Given the description of an element on the screen output the (x, y) to click on. 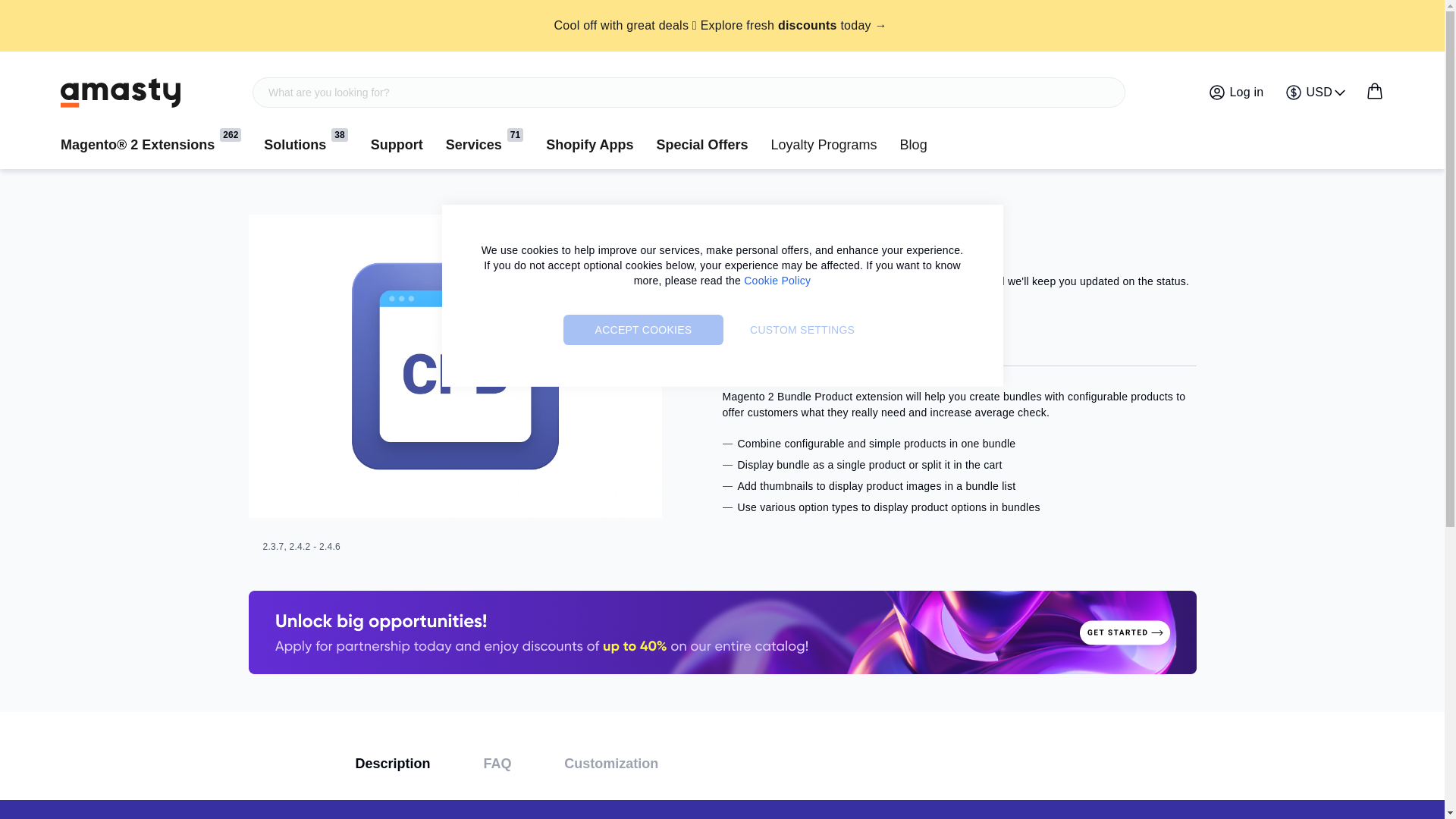
Log in (1235, 92)
USD (1316, 92)
shopping-bag (1374, 90)
Cookie Policy (777, 280)
Cookie Policy (777, 280)
CUSTOM SETTINGS (801, 329)
1 (120, 91)
shopping-bag (1374, 90)
ACCEPT COOKIES (643, 329)
